Given the description of an element on the screen output the (x, y) to click on. 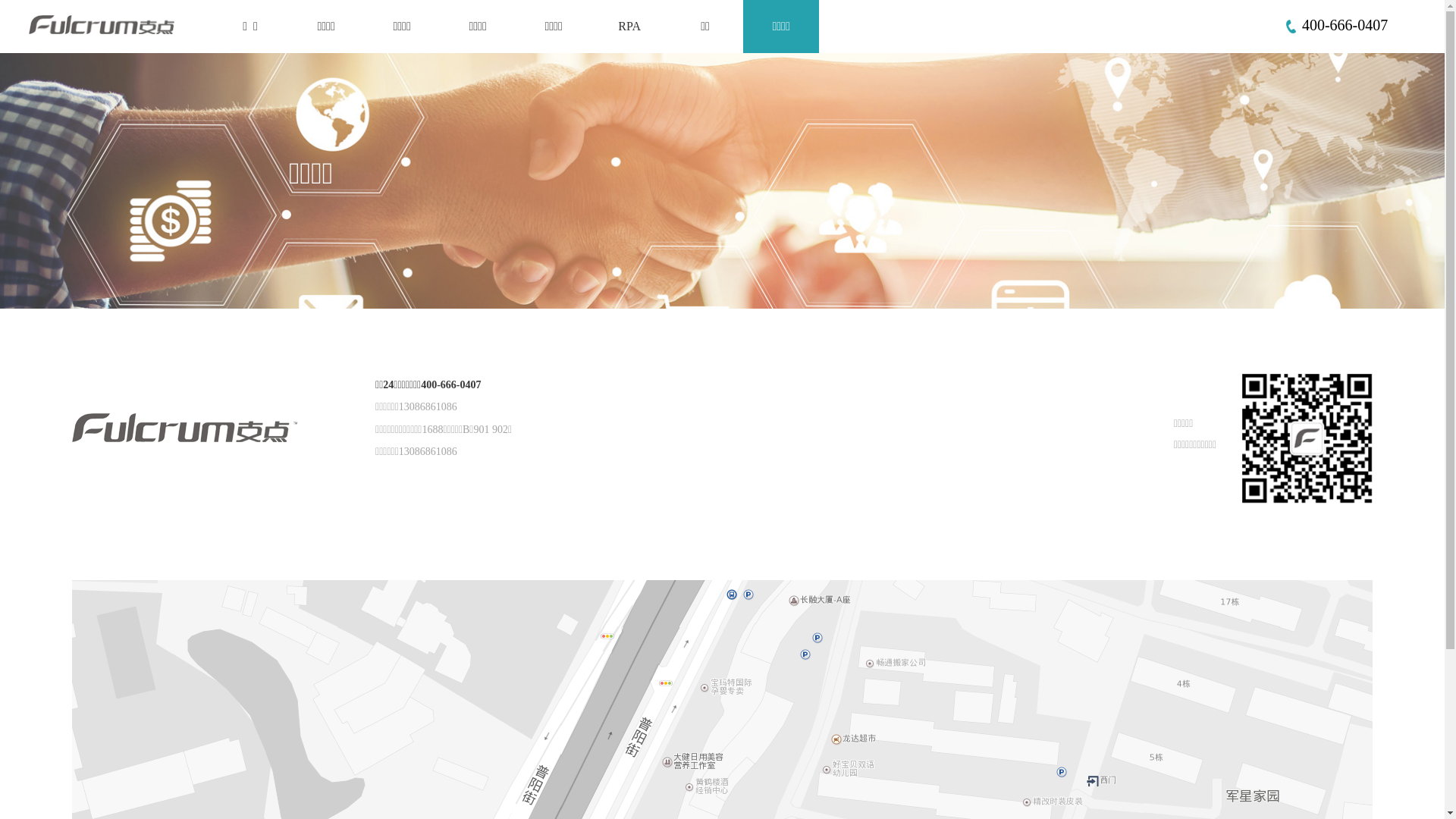
RPA Element type: text (629, 26)
